Given the description of an element on the screen output the (x, y) to click on. 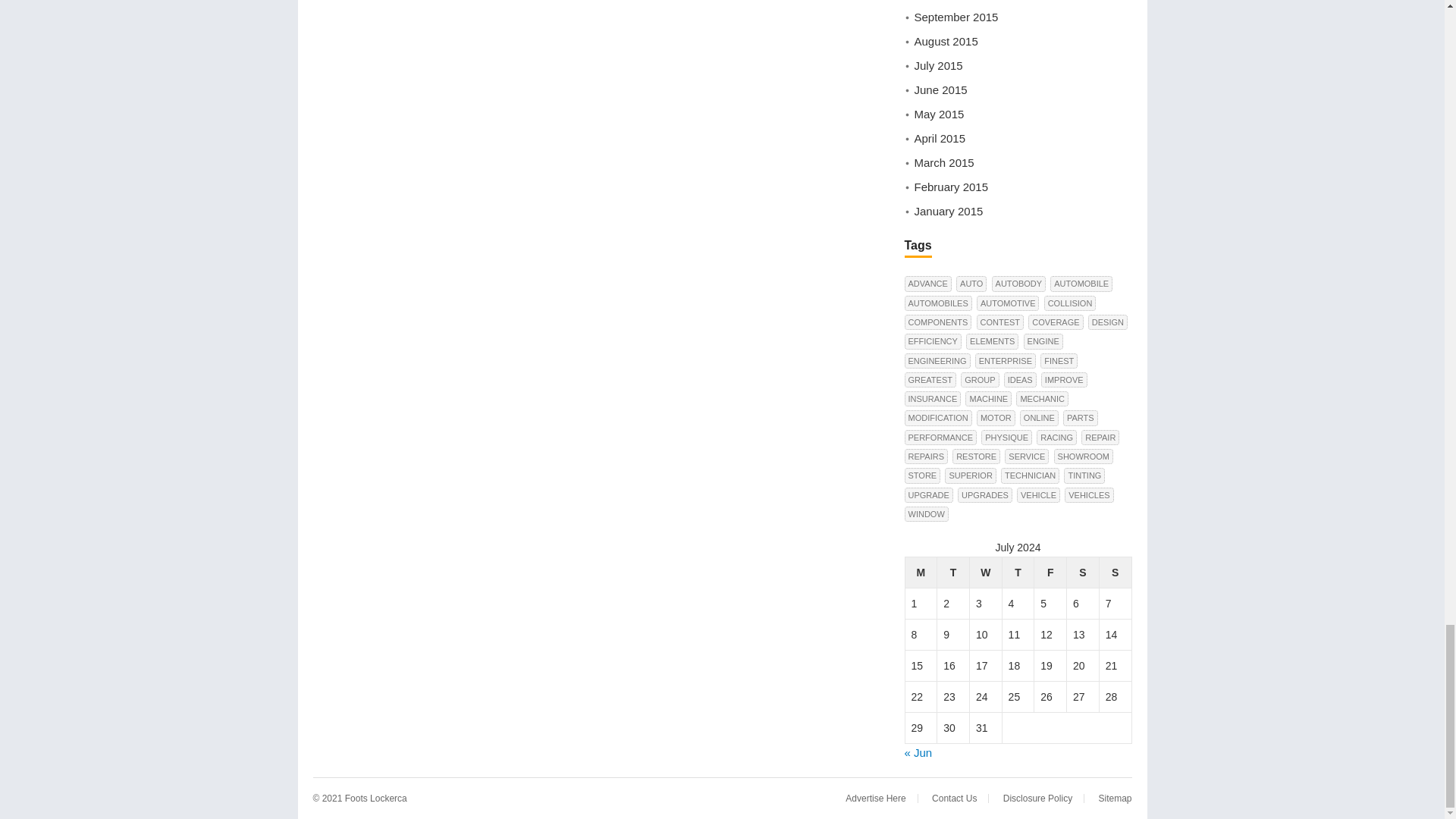
Saturday (1083, 572)
Wednesday (985, 572)
Tuesday (953, 572)
Sunday (1115, 572)
Monday (920, 572)
Friday (1050, 572)
Thursday (1017, 572)
